Given the description of an element on the screen output the (x, y) to click on. 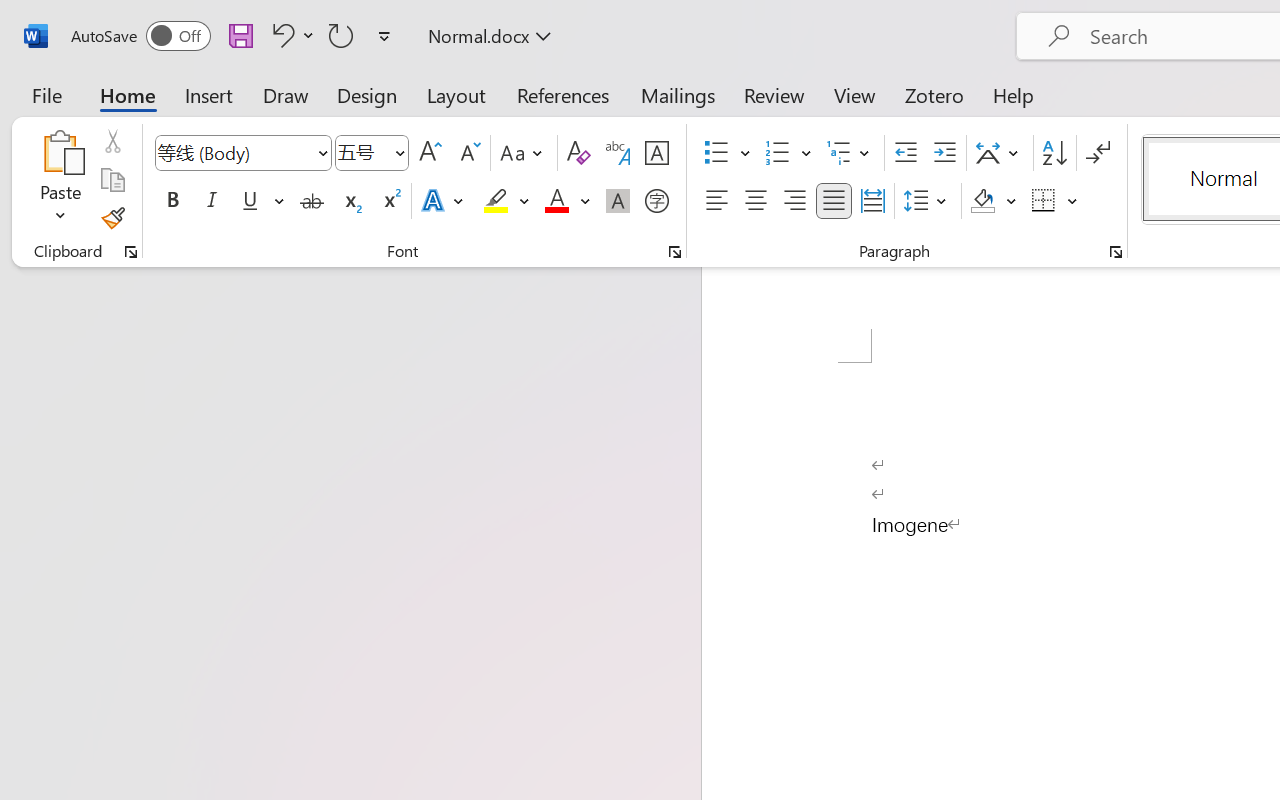
Align Left (716, 201)
Copy (112, 179)
Italic (212, 201)
Bold (172, 201)
Justify (834, 201)
Multilevel List (850, 153)
Clear Formatting (578, 153)
